Given the description of an element on the screen output the (x, y) to click on. 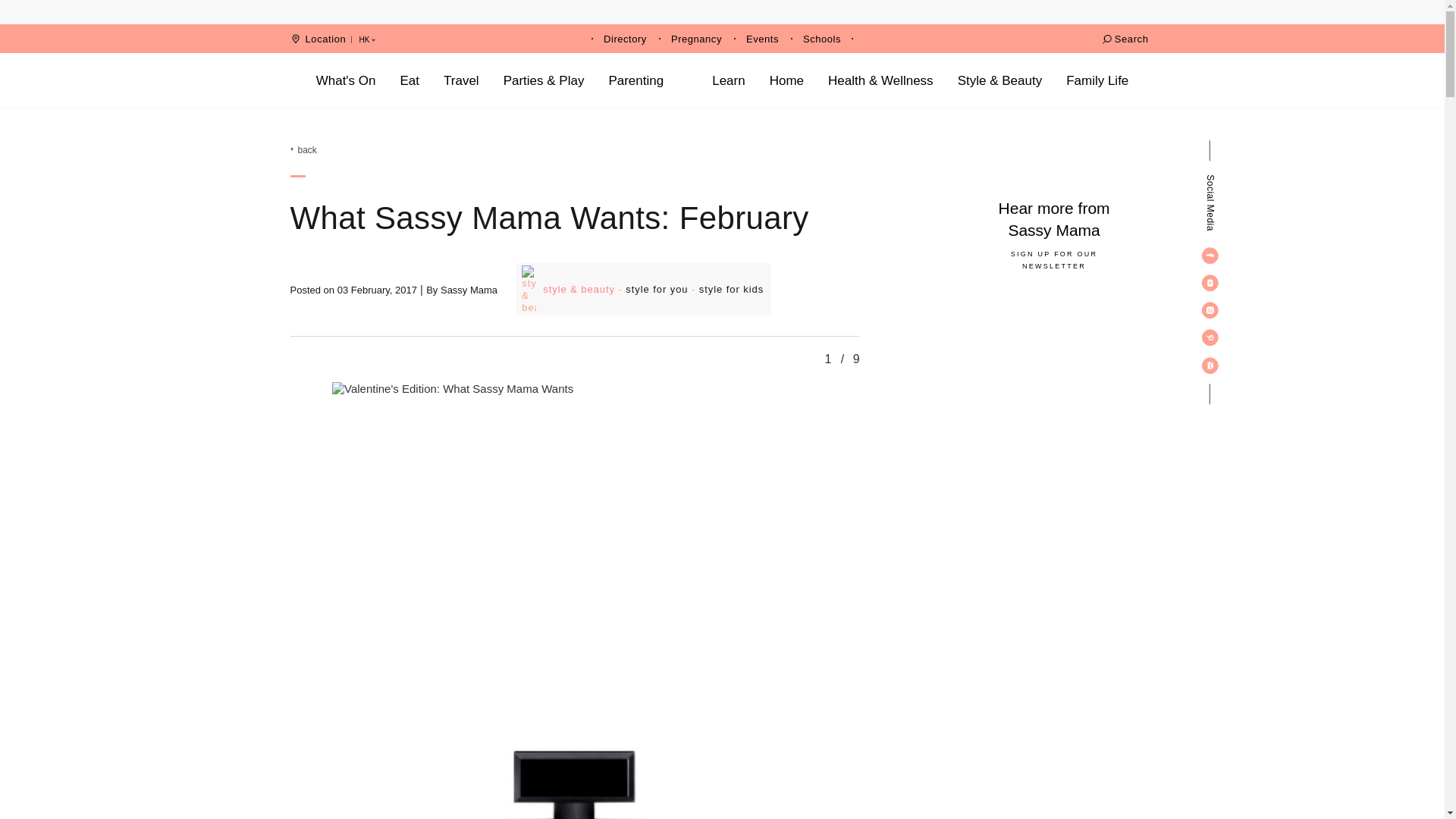
Schools (822, 39)
Sassy Mama Youtube (1209, 282)
Sassy Mama Instagram (1209, 309)
Pregnancy (696, 39)
Events (761, 39)
What's On (345, 80)
Sassy Mama Facebook Page (1209, 255)
Directory (625, 39)
Sassy Mama Pinterest (1209, 337)
Eat (410, 80)
